Given the description of an element on the screen output the (x, y) to click on. 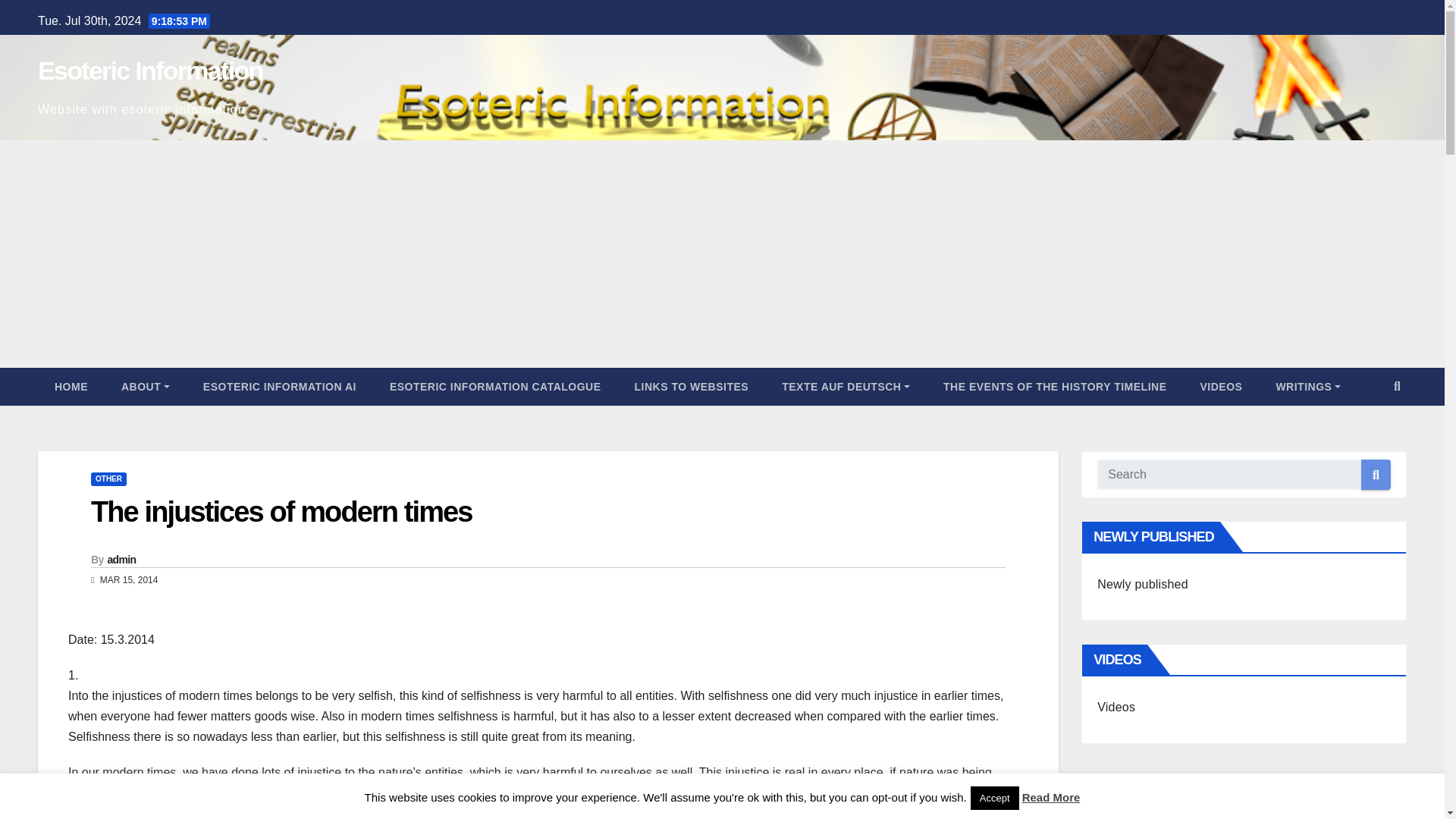
VIDEOS (1220, 386)
admin (121, 559)
LINKS TO WEBSITES (691, 386)
TEXTE AUF DEUTSCH (845, 386)
OTHER (108, 479)
Permalink to: The injustices of modern times (280, 511)
ESOTERIC INFORMATION AI (279, 386)
Advertisement (1243, 792)
The injustices of modern times (280, 511)
ESOTERIC INFORMATION CATALOGUE (494, 386)
ABOUT (145, 386)
HOME (70, 386)
WRITINGS (1307, 386)
Esoteric Information (150, 70)
